Given the description of an element on the screen output the (x, y) to click on. 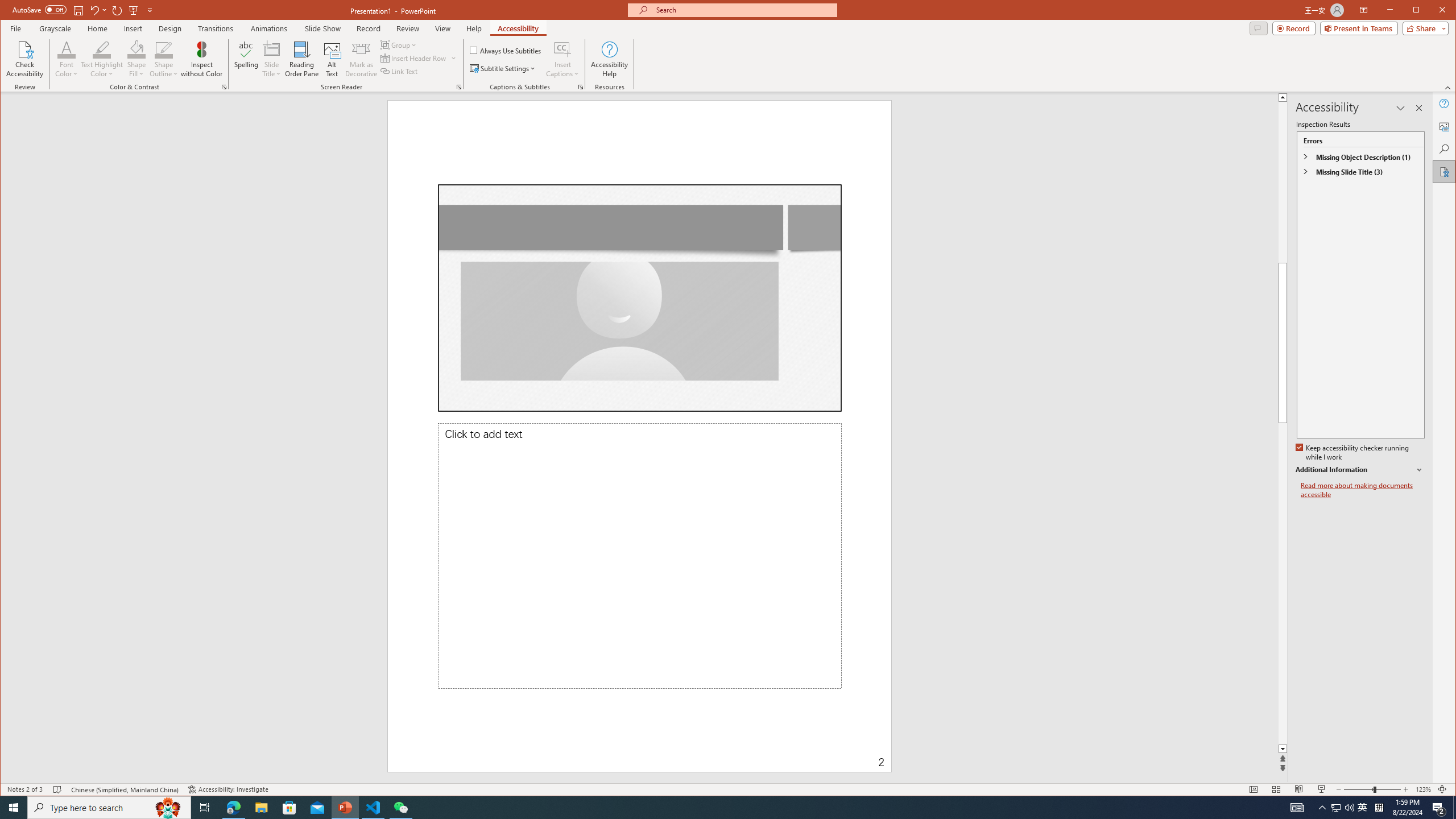
Reading Order Pane (301, 59)
Zoom 123% (1422, 789)
